Given the description of an element on the screen output the (x, y) to click on. 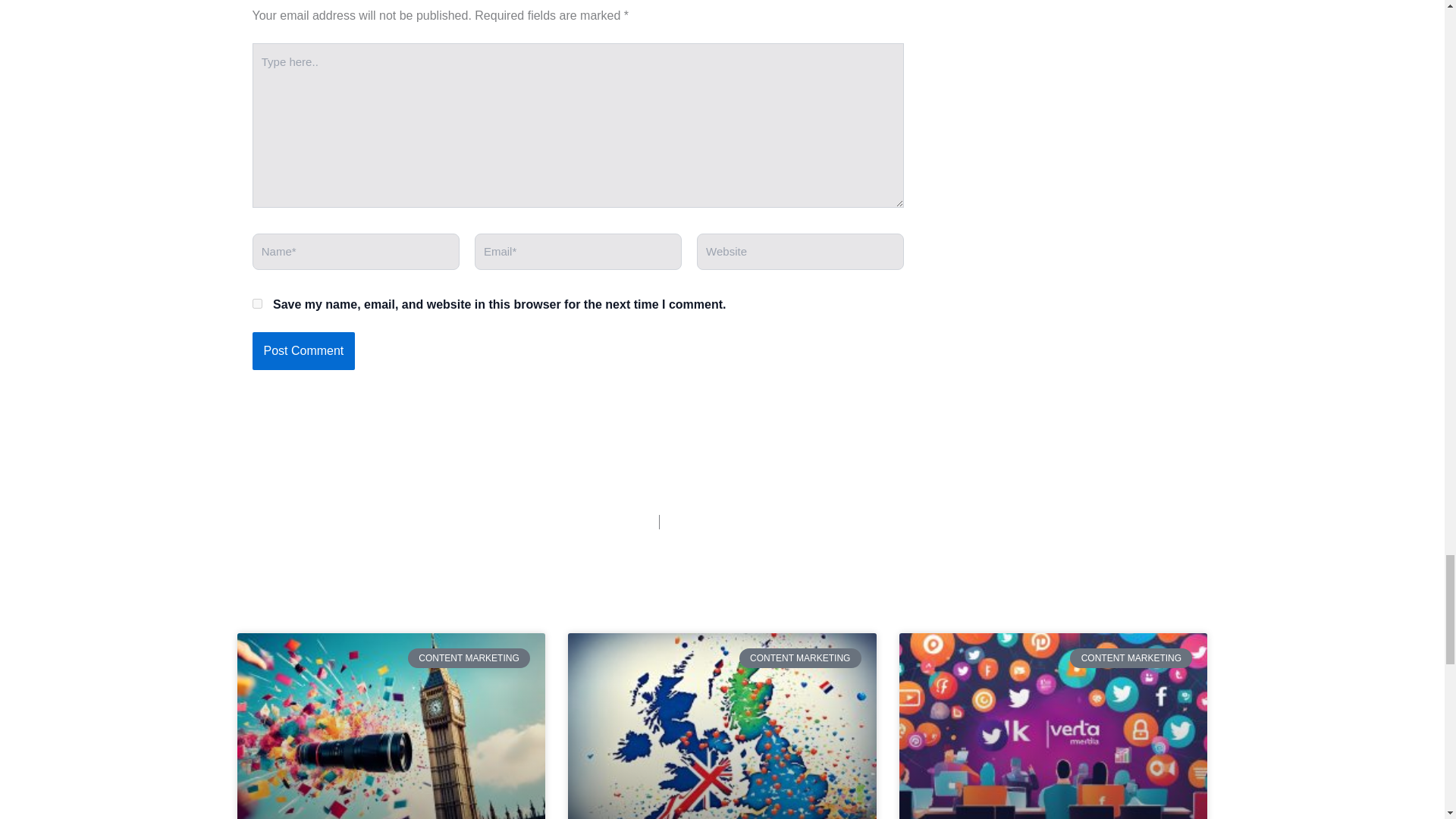
Post Comment (303, 351)
yes (256, 303)
Post Comment (303, 351)
